Given the description of an element on the screen output the (x, y) to click on. 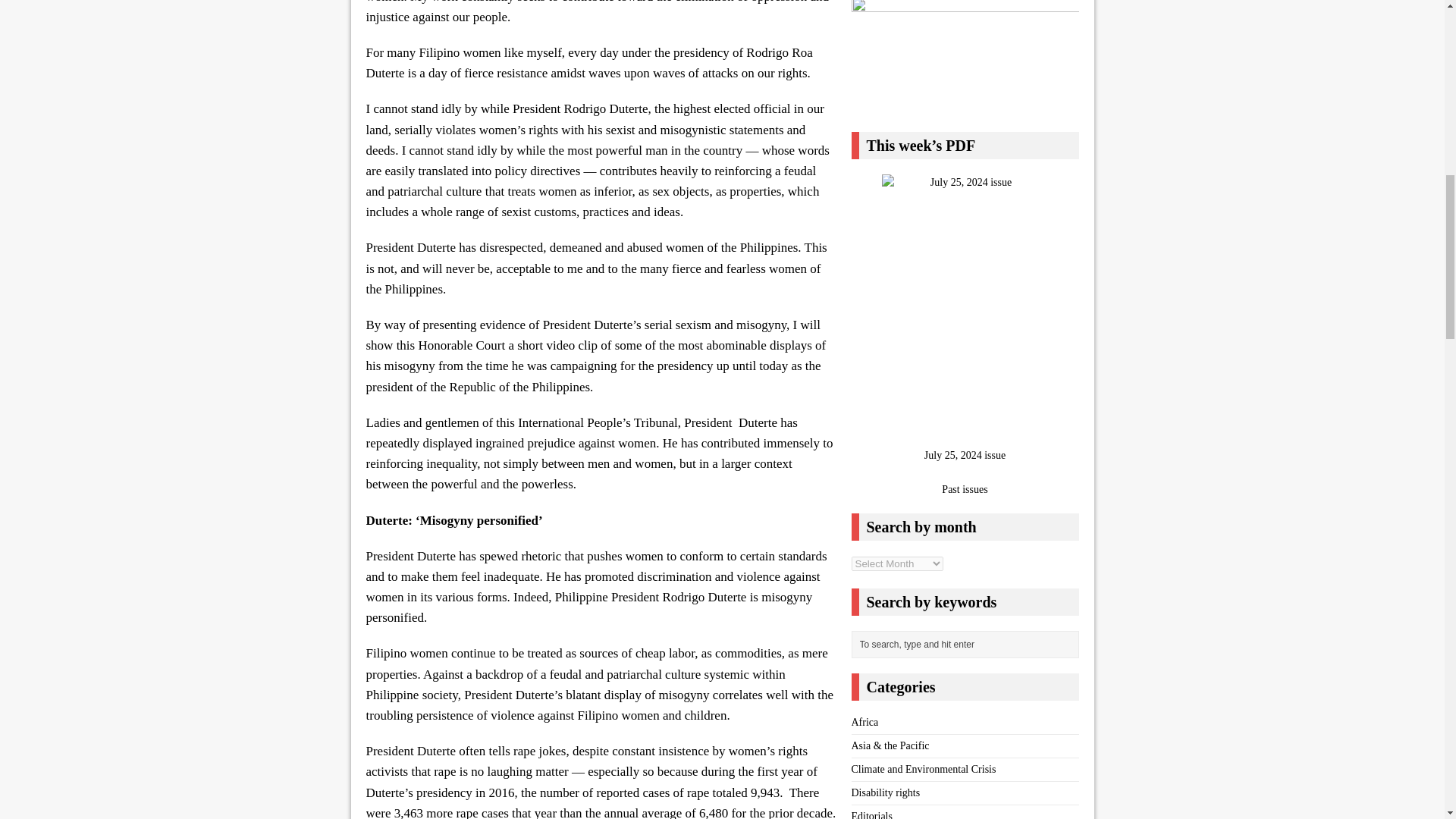
To search, type and hit enter (968, 644)
